Given the description of an element on the screen output the (x, y) to click on. 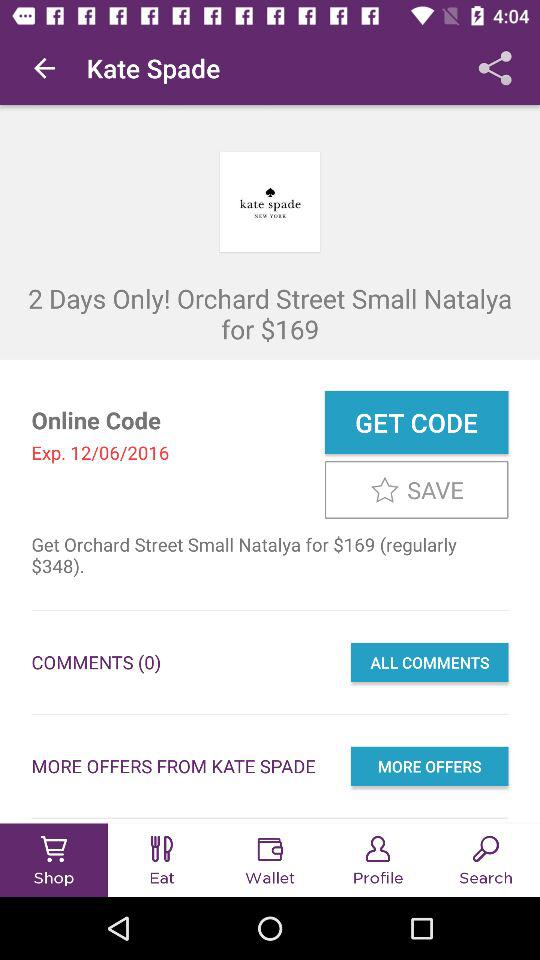
launch item next to comments (0) icon (429, 662)
